Given the description of an element on the screen output the (x, y) to click on. 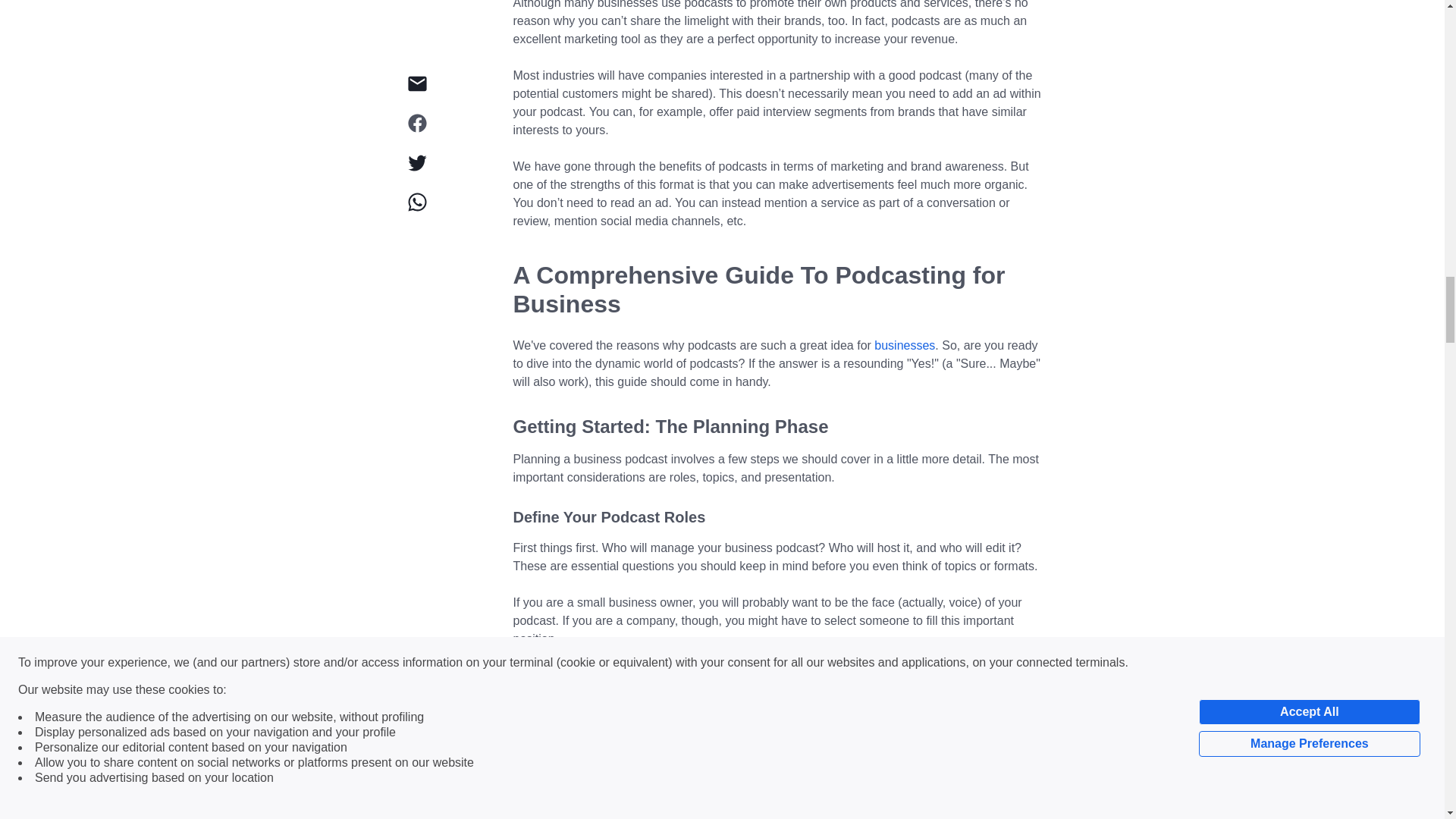
businesses (904, 345)
